Given the description of an element on the screen output the (x, y) to click on. 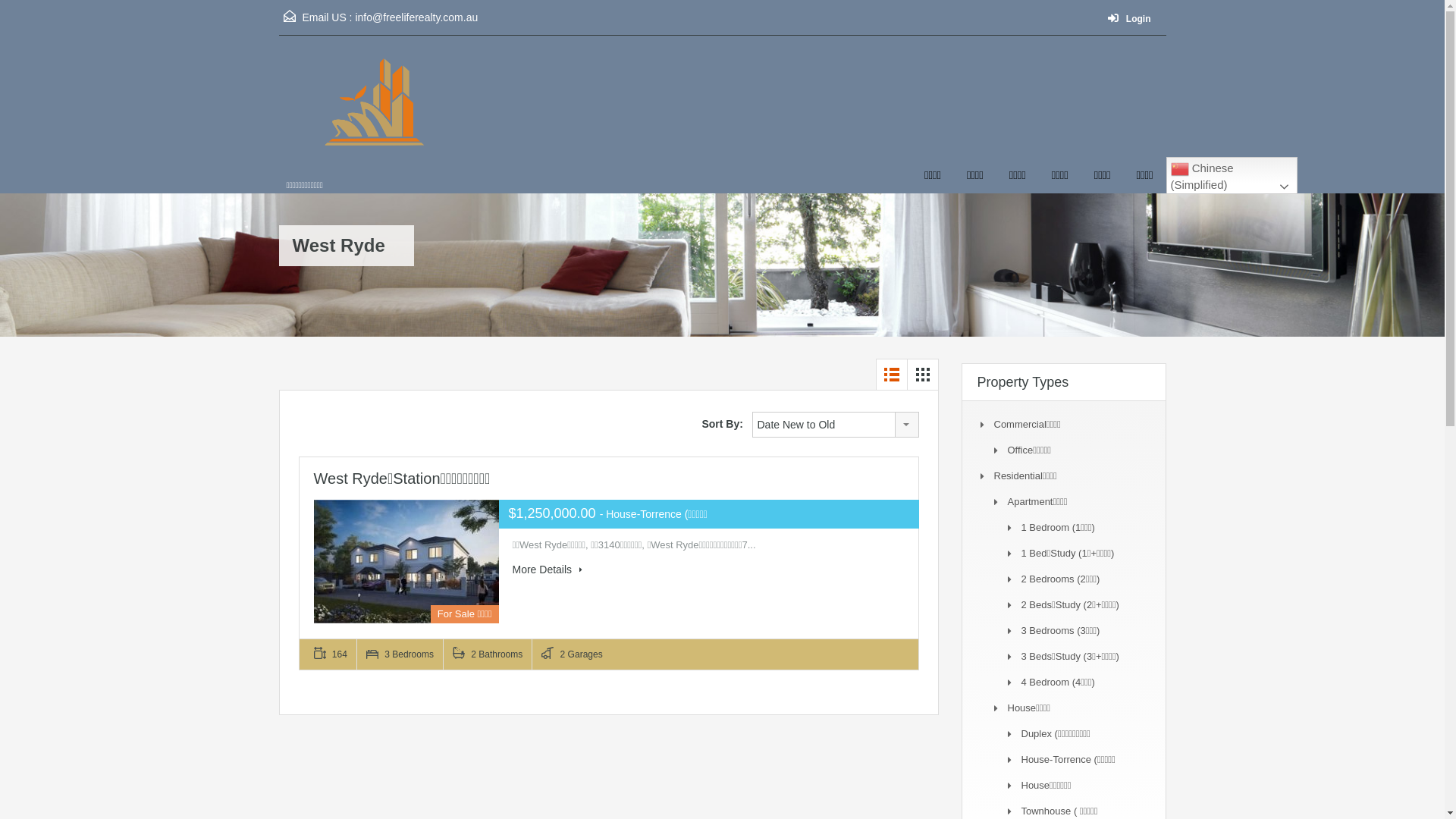
Date New to Old Element type: text (835, 424)
More Details Element type: text (547, 569)
Login Element type: text (1132, 19)
info@freeliferealty.com.au Element type: text (415, 17)
Chinese (Simplified) Element type: text (1231, 175)
